Given the description of an element on the screen output the (x, y) to click on. 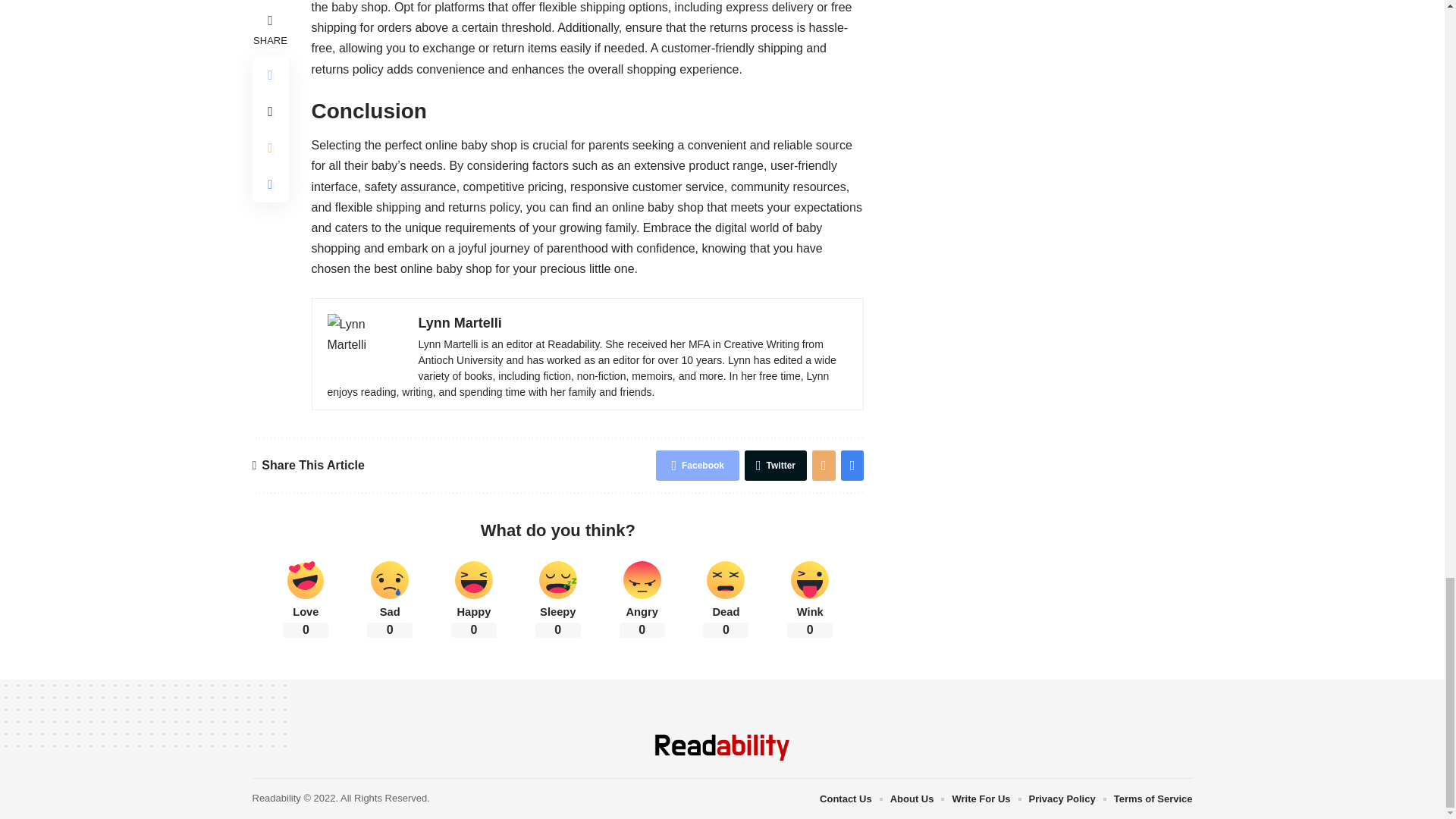
Readability (722, 747)
